Given the description of an element on the screen output the (x, y) to click on. 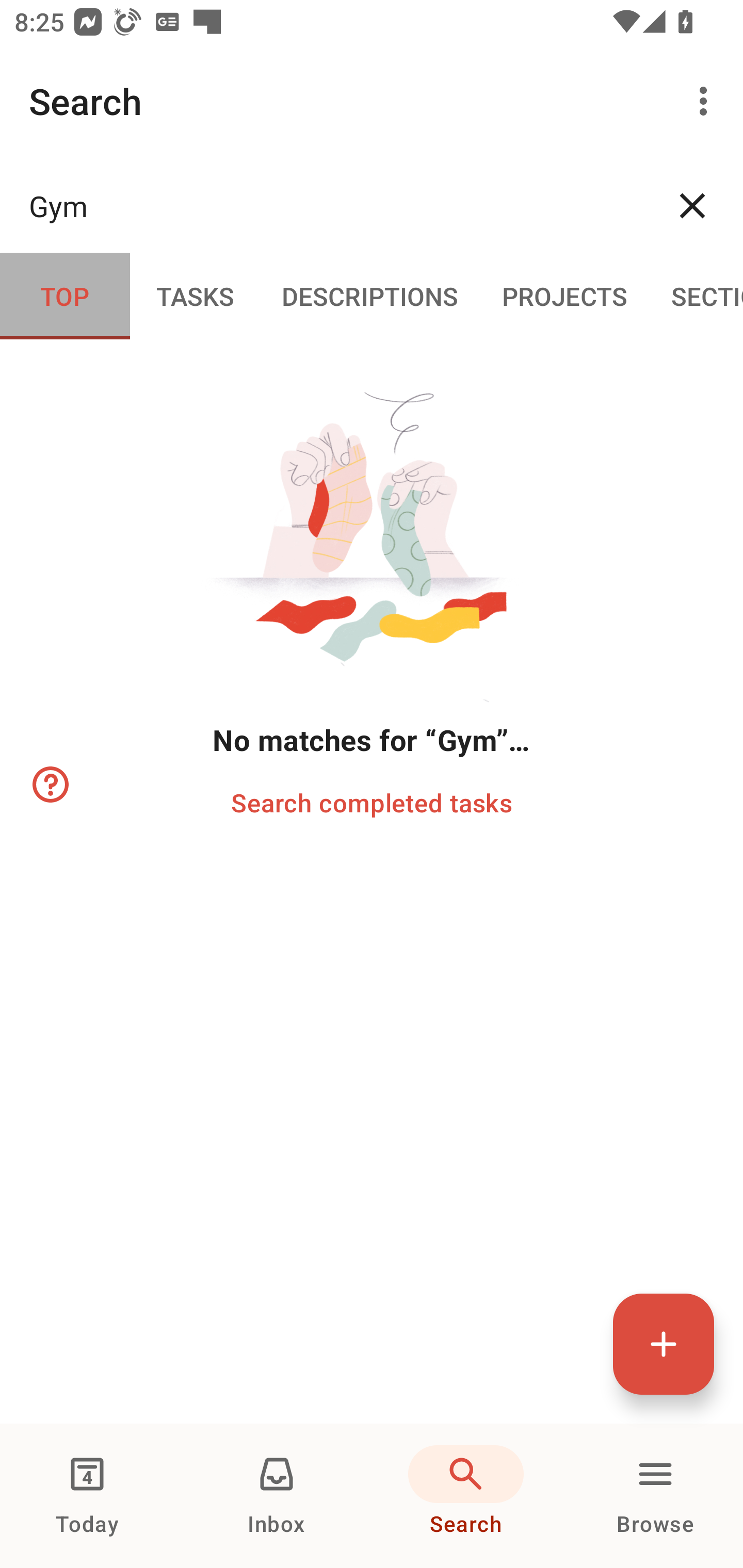
Search More options (371, 100)
More options (706, 101)
Gym (335, 205)
Clear (692, 205)
Tasks TASKS (195, 295)
Descriptions DESCRIPTIONS (370, 295)
Projects PROJECTS (564, 295)
Learn how to refine your search (48, 784)
Search completed tasks (371, 801)
Quick add (663, 1343)
Today (87, 1495)
Inbox (276, 1495)
Browse (655, 1495)
